Given the description of an element on the screen output the (x, y) to click on. 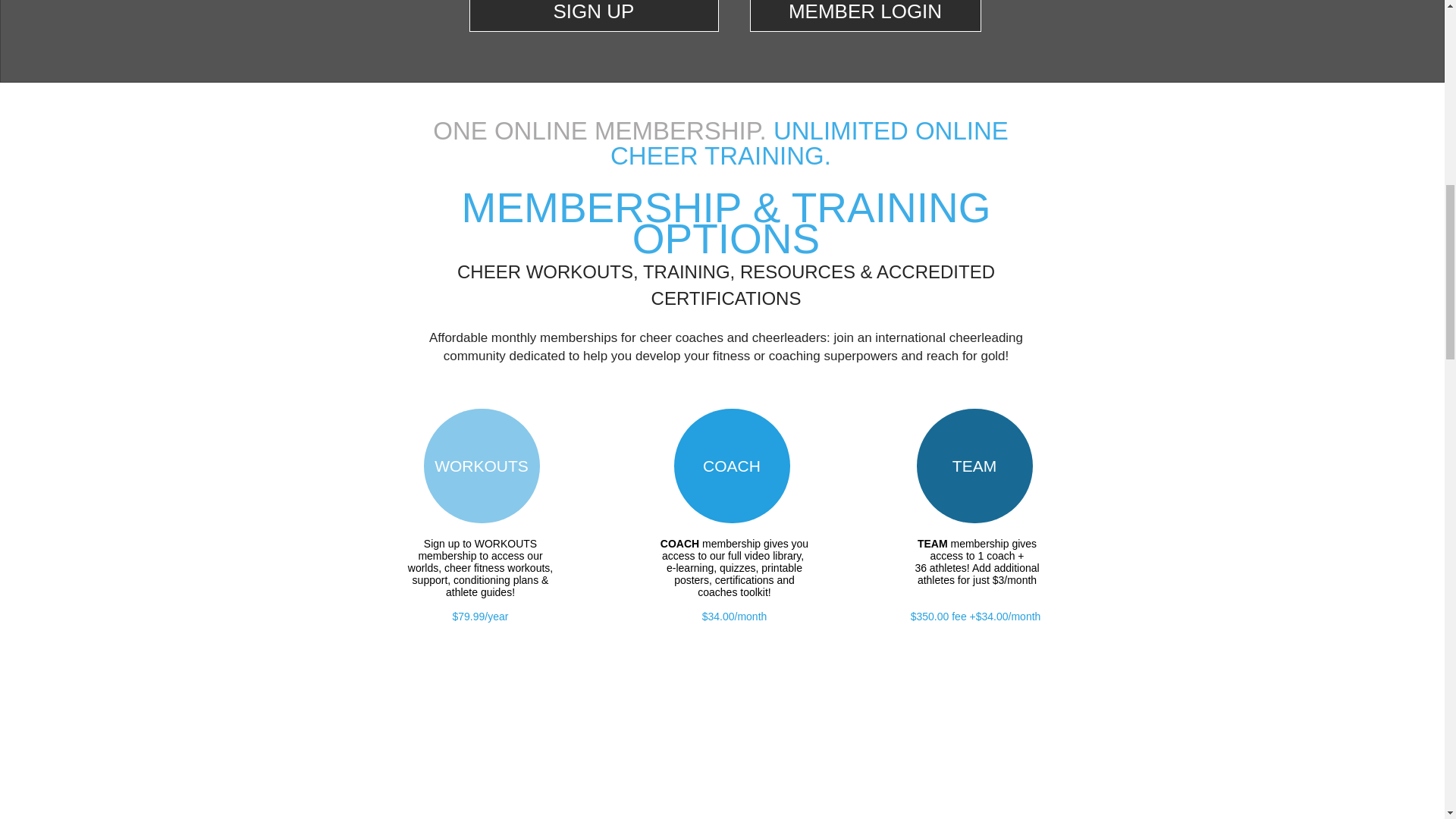
WORKOUTS (480, 465)
COACH (730, 465)
MEMBER LOGIN (864, 15)
TEAM (973, 465)
SIGN UP (592, 15)
